Given the description of an element on the screen output the (x, y) to click on. 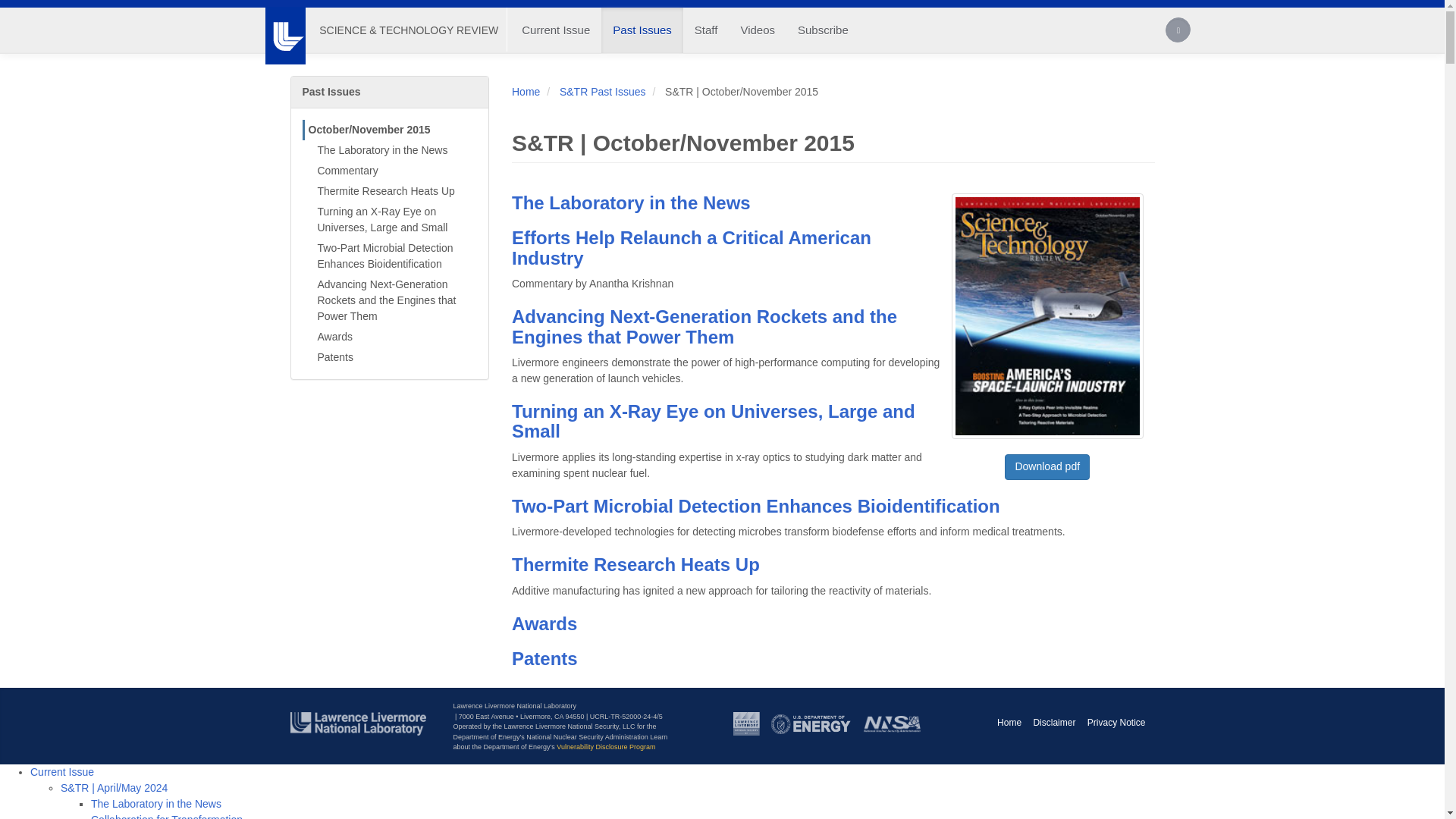
Past Issues (641, 30)
Home (407, 30)
Search (1179, 31)
Current Issue (556, 30)
